Given the description of an element on the screen output the (x, y) to click on. 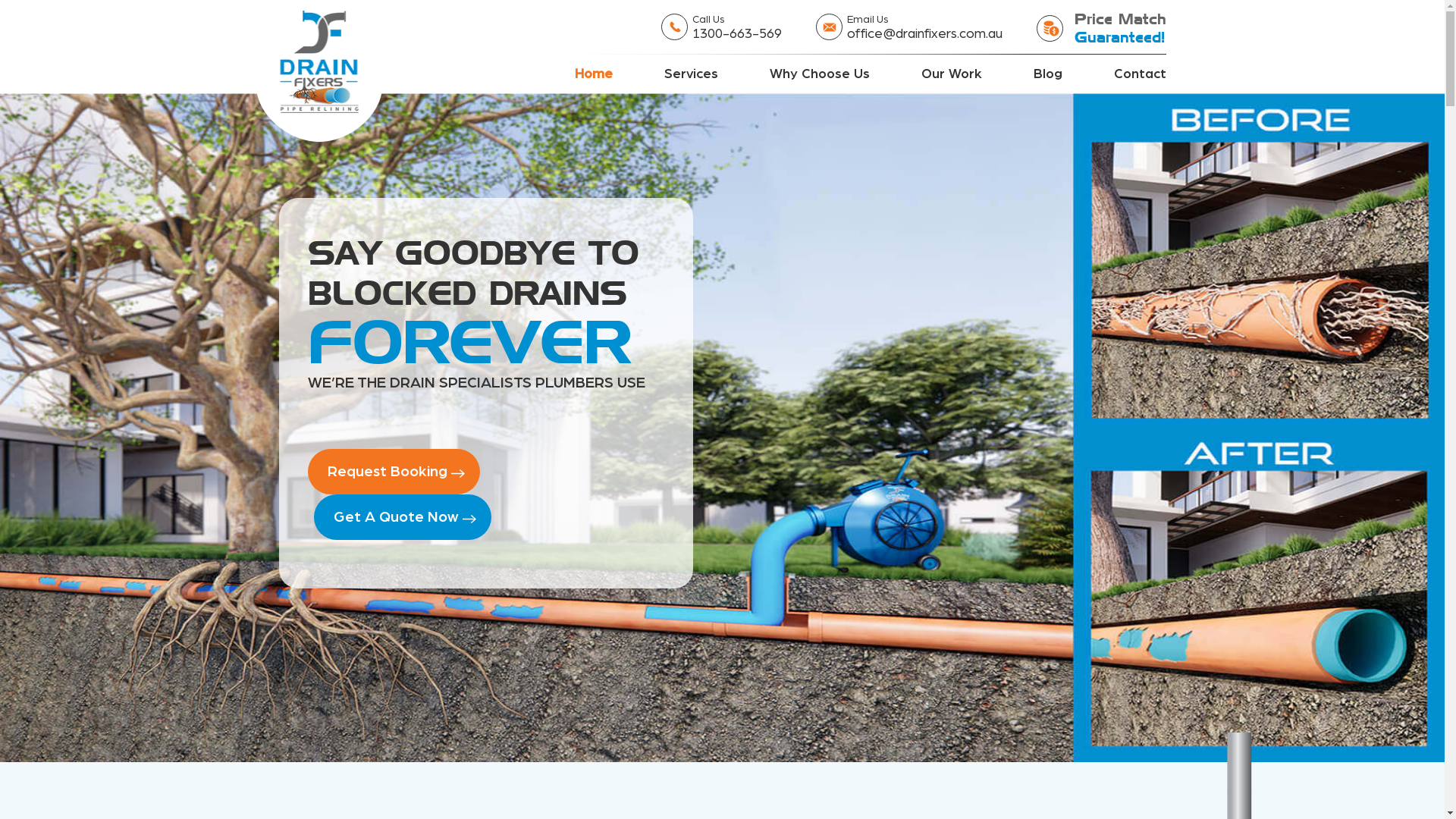
Services Element type: text (691, 74)
office@drainfixers.com.au Element type: text (923, 34)
Drain Fixers Element type: hover (319, 70)
Contact Element type: text (1139, 74)
Why Choose Us Element type: text (818, 74)
Get A Quote Now Element type: text (402, 516)
Blog Element type: text (1046, 74)
Request Booking Element type: text (393, 471)
1300-663-569 Element type: text (736, 34)
Our Work Element type: text (950, 74)
Home Element type: text (593, 74)
